Given the description of an element on the screen output the (x, y) to click on. 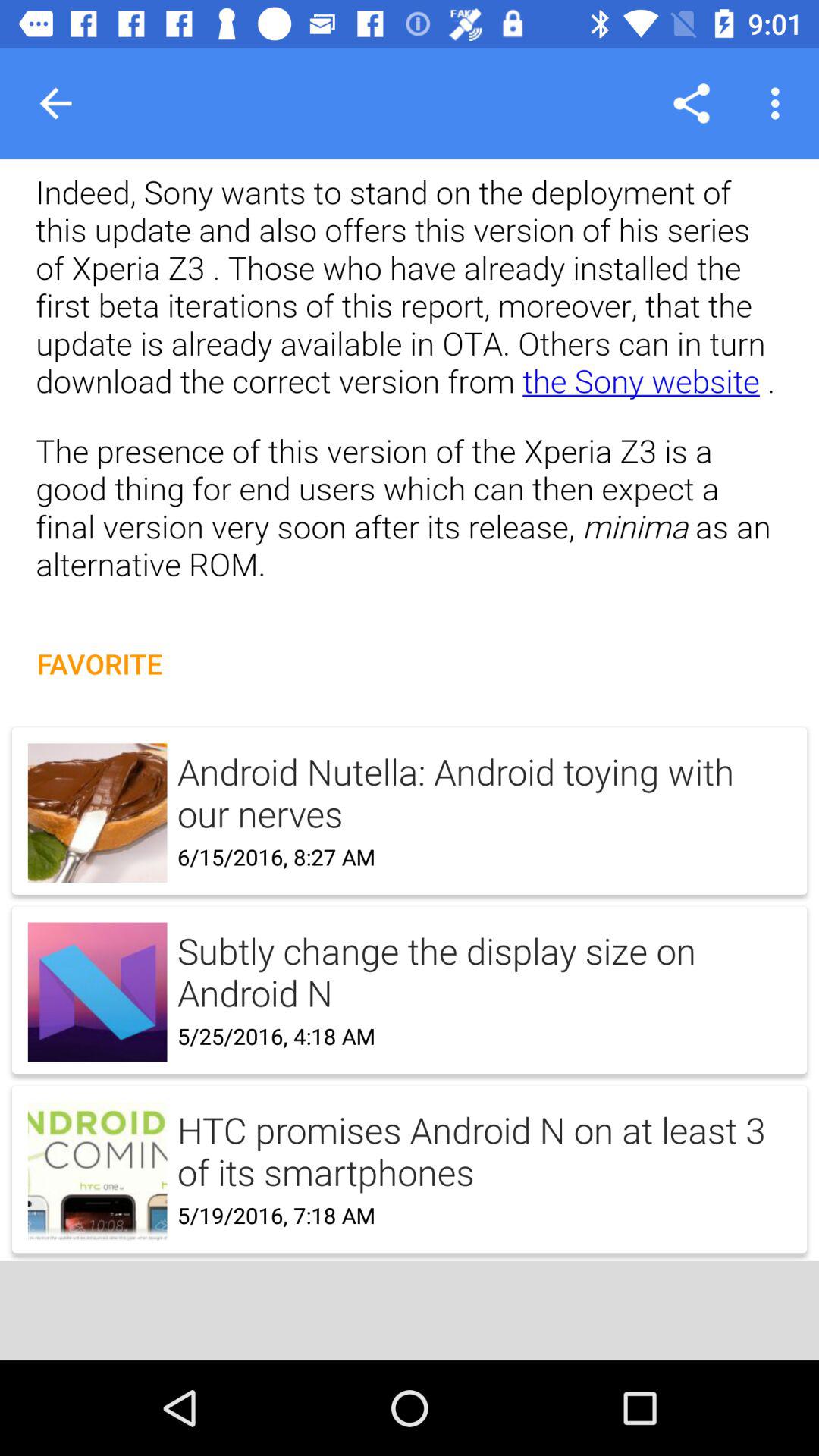
open favorite article (409, 973)
